Given the description of an element on the screen output the (x, y) to click on. 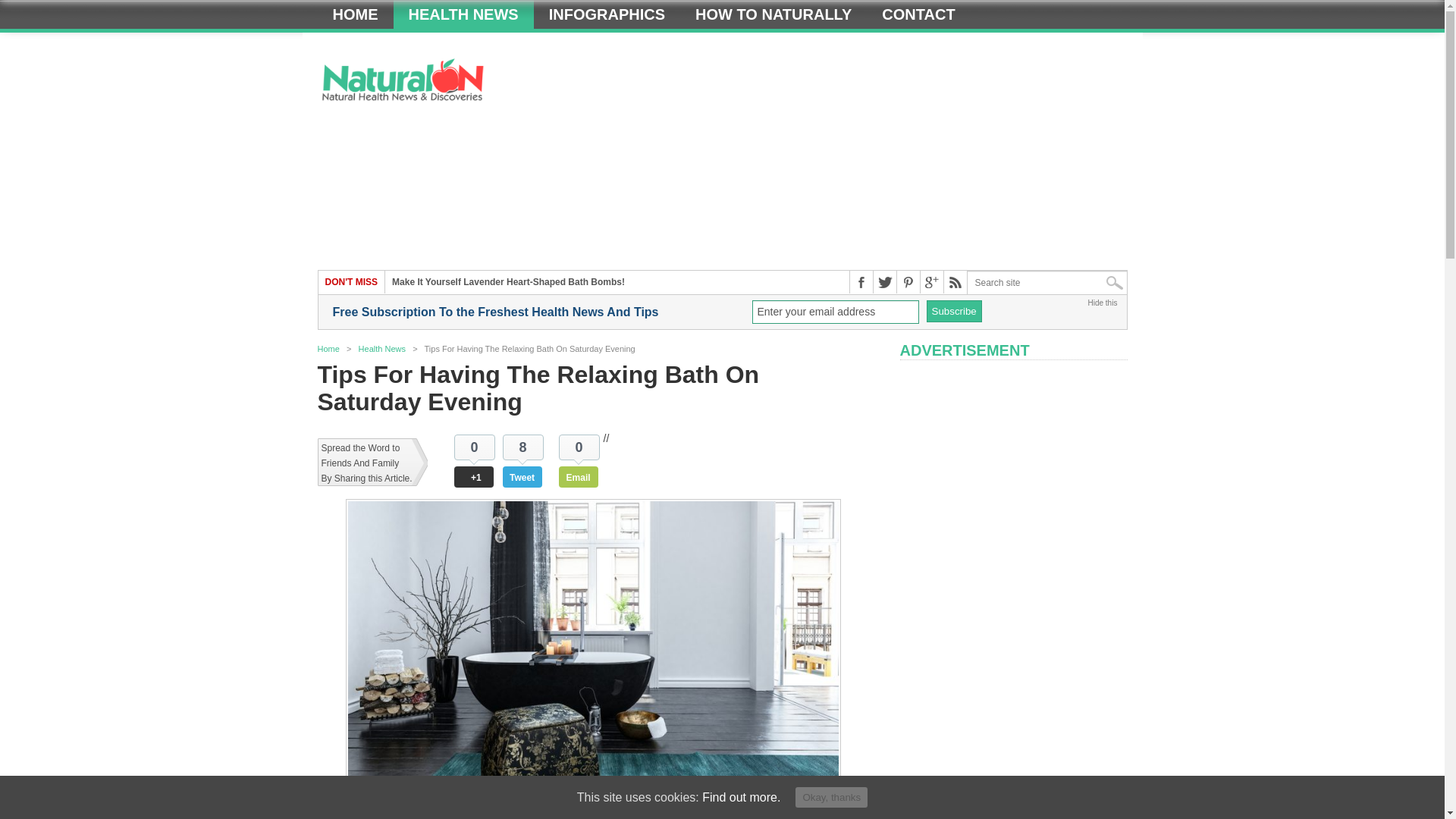
HOW TO NATURALLY (772, 14)
Home (355, 14)
Subscribe (953, 311)
HOME (355, 14)
Tweet (521, 476)
Health News (382, 347)
HEALTH NEWS (462, 14)
0 (579, 447)
Contact (917, 14)
Make It Yourself Lavender Heart-Shaped Bath Bombs! (507, 281)
